Given the description of an element on the screen output the (x, y) to click on. 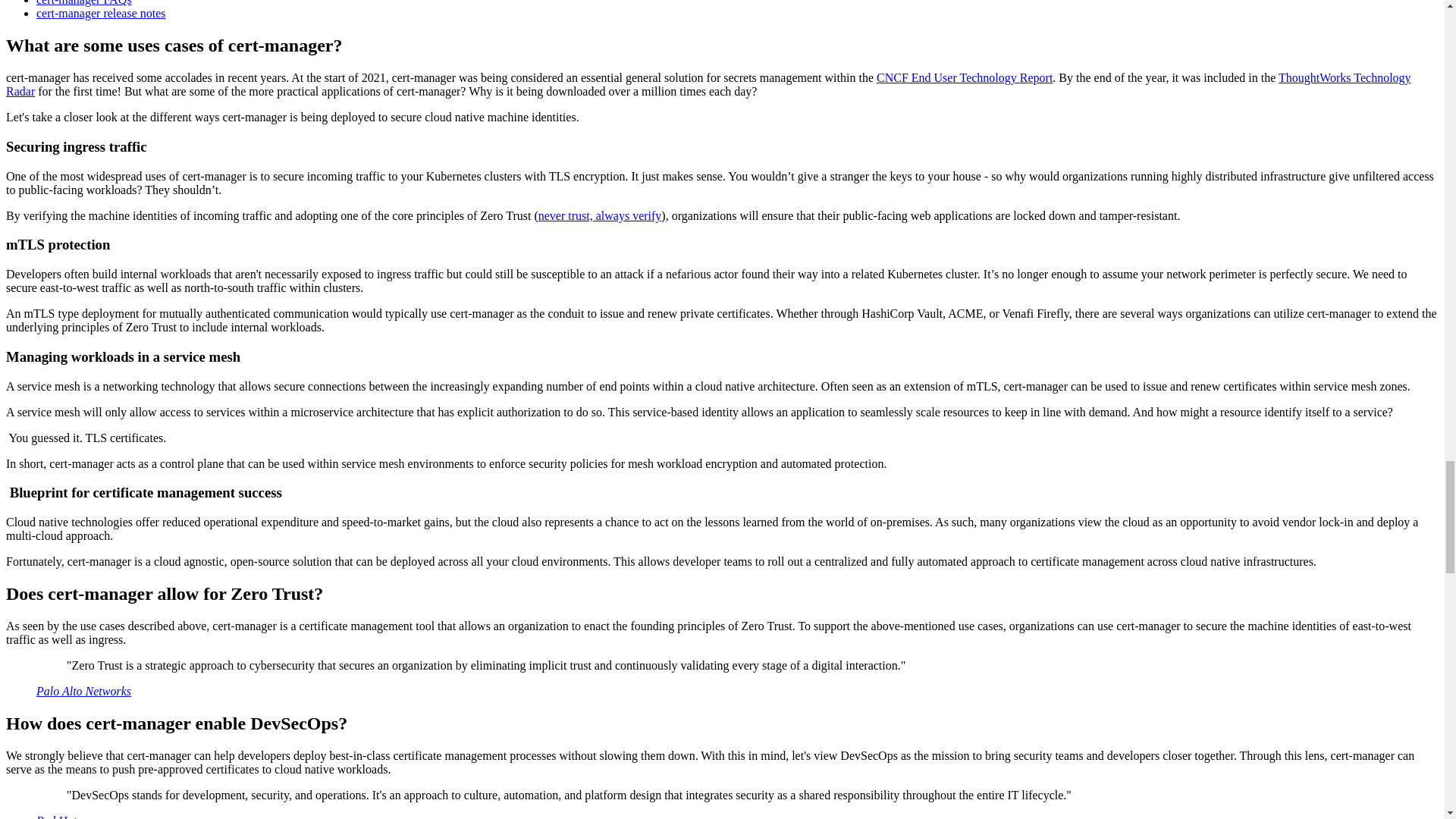
What is DevSecOps? (56, 816)
What is a Zero Trust Architecture (83, 690)
